Given the description of an element on the screen output the (x, y) to click on. 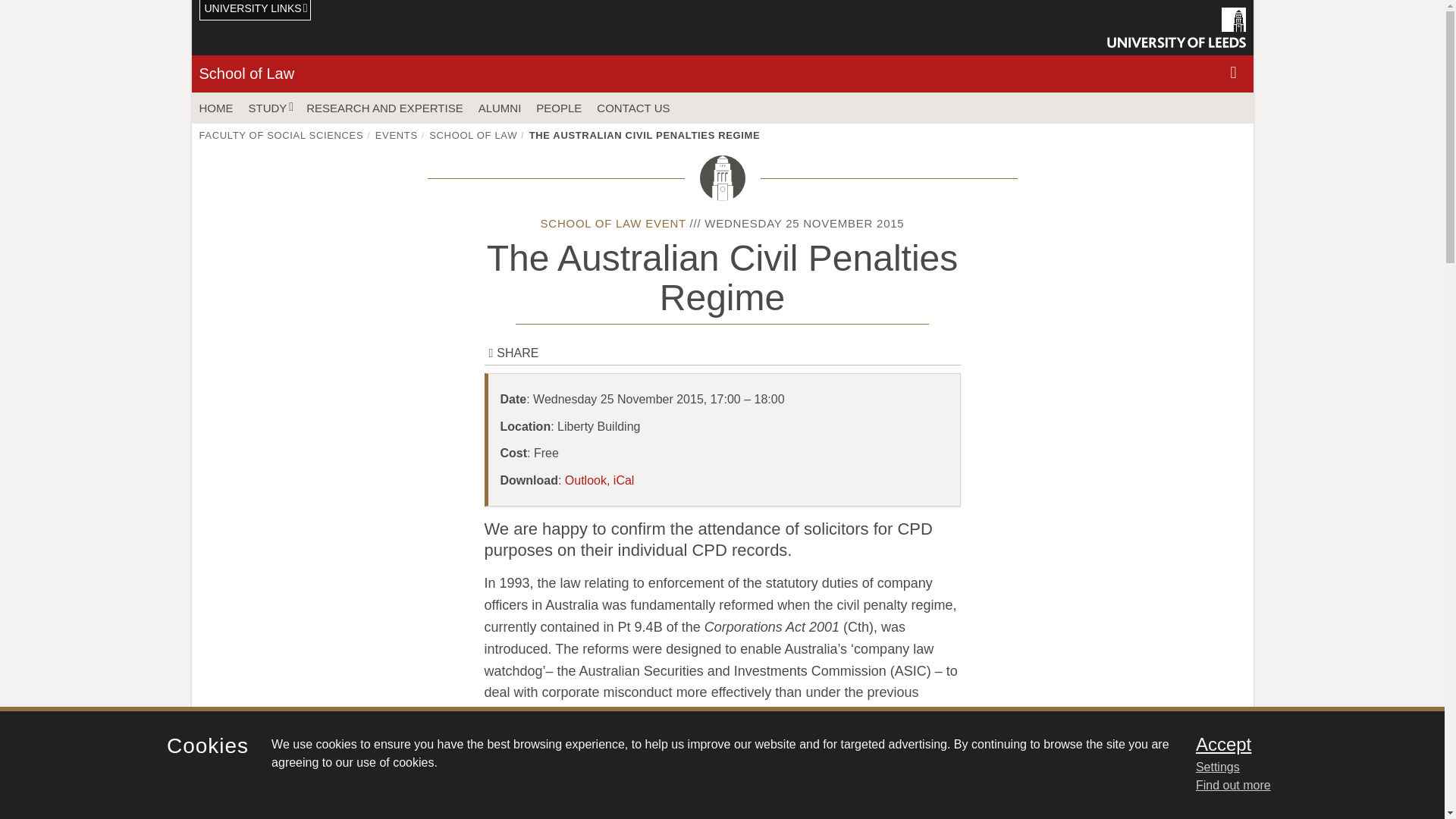
Find out more (1233, 784)
Settings (1300, 767)
UNIVERSITY LINKS (254, 10)
Accept (1300, 744)
University of Leeds homepage (1176, 27)
